Given the description of an element on the screen output the (x, y) to click on. 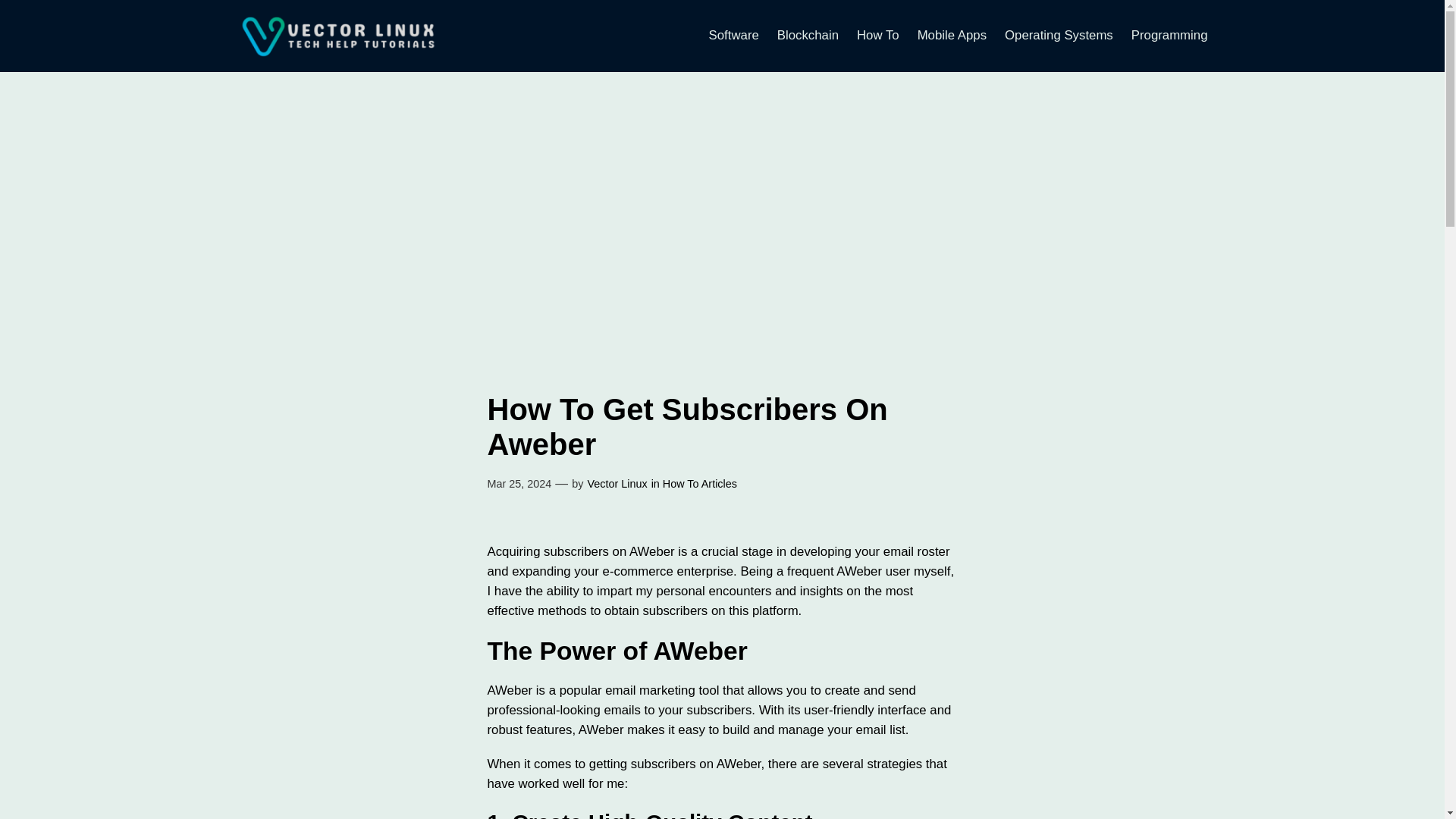
Programming (1169, 35)
Mobile Apps (952, 35)
Operating Systems (1058, 35)
Mar 25, 2024 (518, 483)
How To (878, 35)
Vector Linux (616, 483)
Software (733, 35)
How To Articles (699, 483)
Blockchain (807, 35)
